Given the description of an element on the screen output the (x, y) to click on. 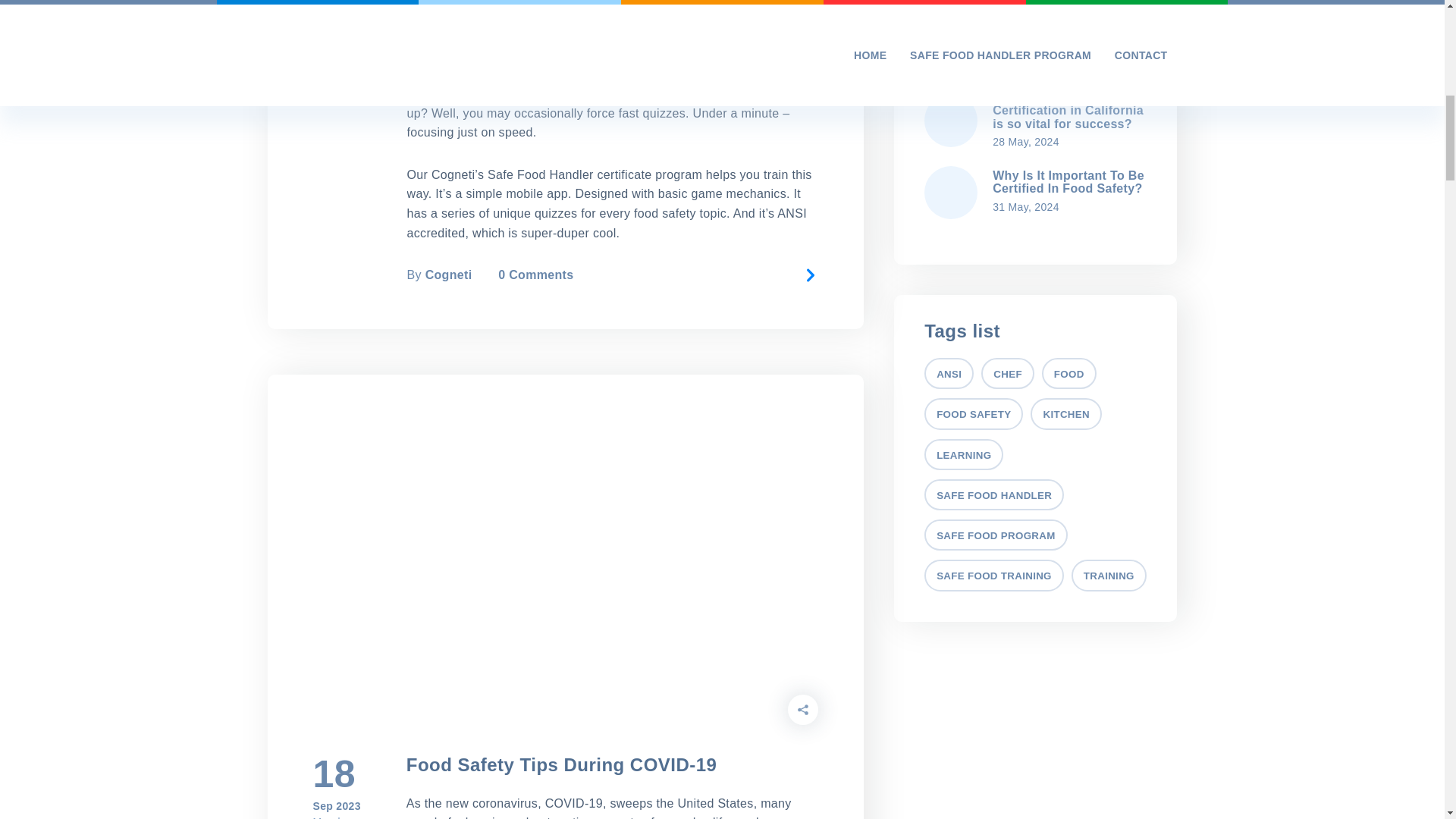
Food Safety Tips During COVID-19 (561, 764)
Cogneti (448, 274)
18 (336, 774)
0 Comments (535, 274)
